Given the description of an element on the screen output the (x, y) to click on. 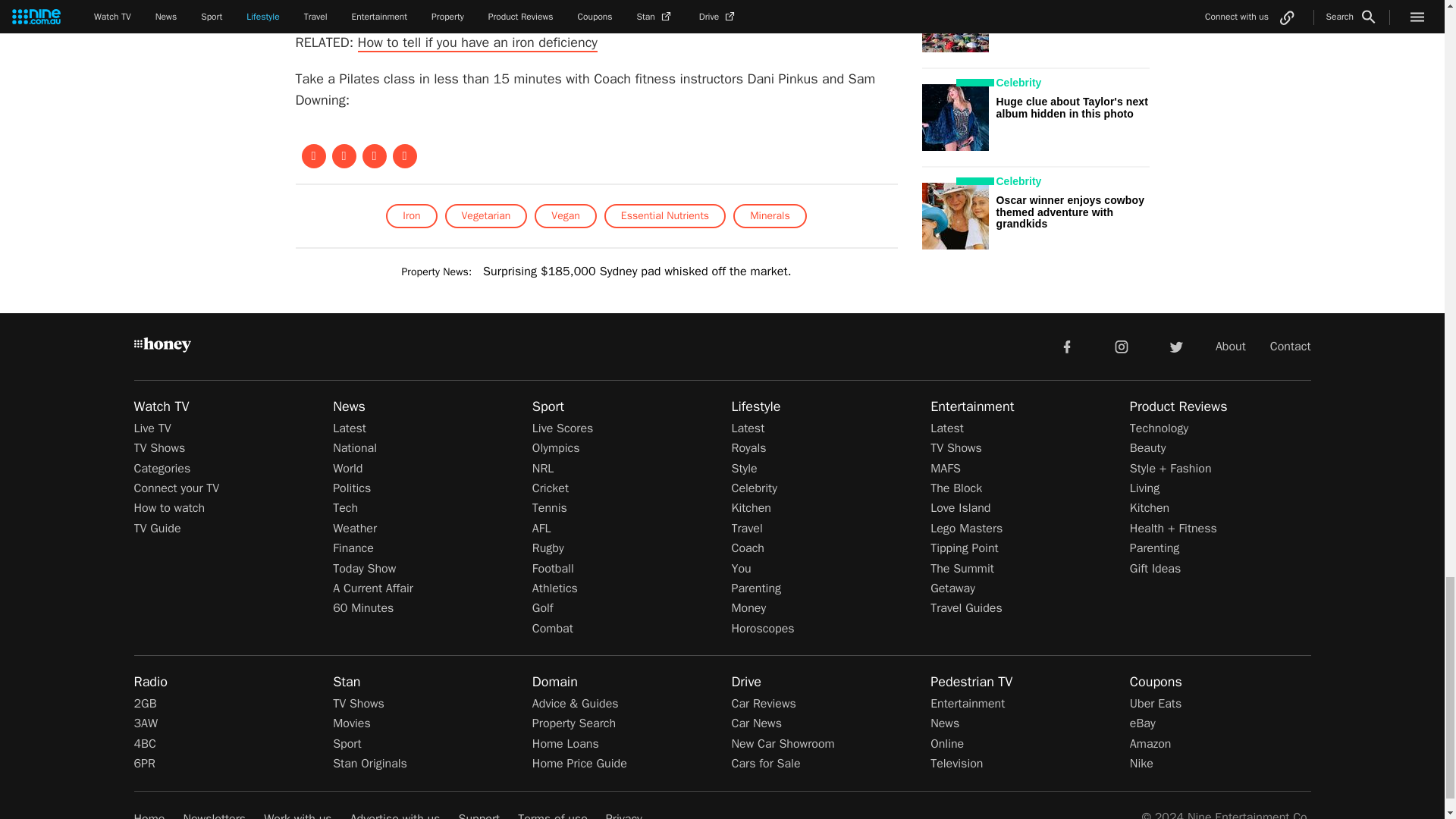
instagram (1121, 345)
How to tell if you have an iron deficiency (477, 43)
Vegetarian (485, 215)
facebook (1066, 345)
Iron (410, 215)
Essential Nutrients (664, 215)
Vegan (564, 215)
twitter (1175, 345)
